Given the description of an element on the screen output the (x, y) to click on. 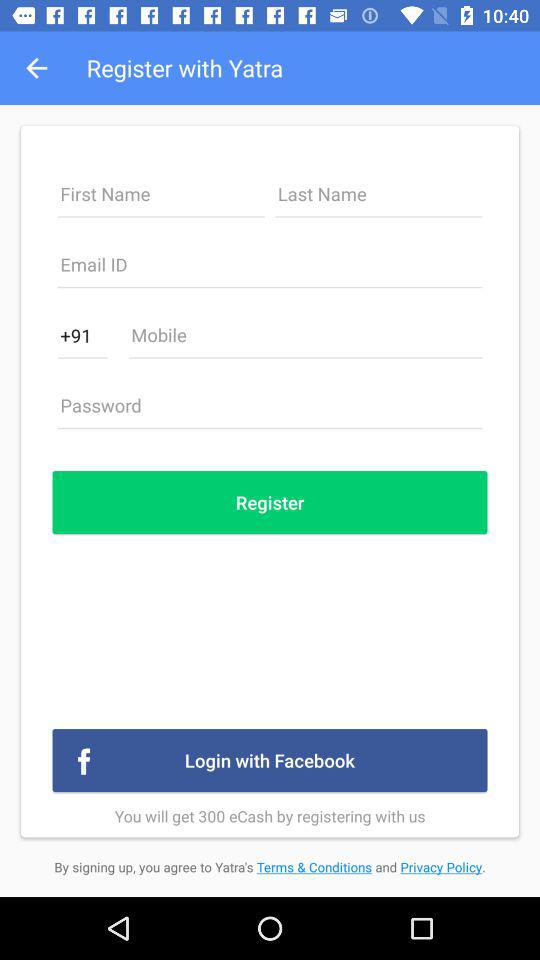
enter mobile (305, 340)
